Given the description of an element on the screen output the (x, y) to click on. 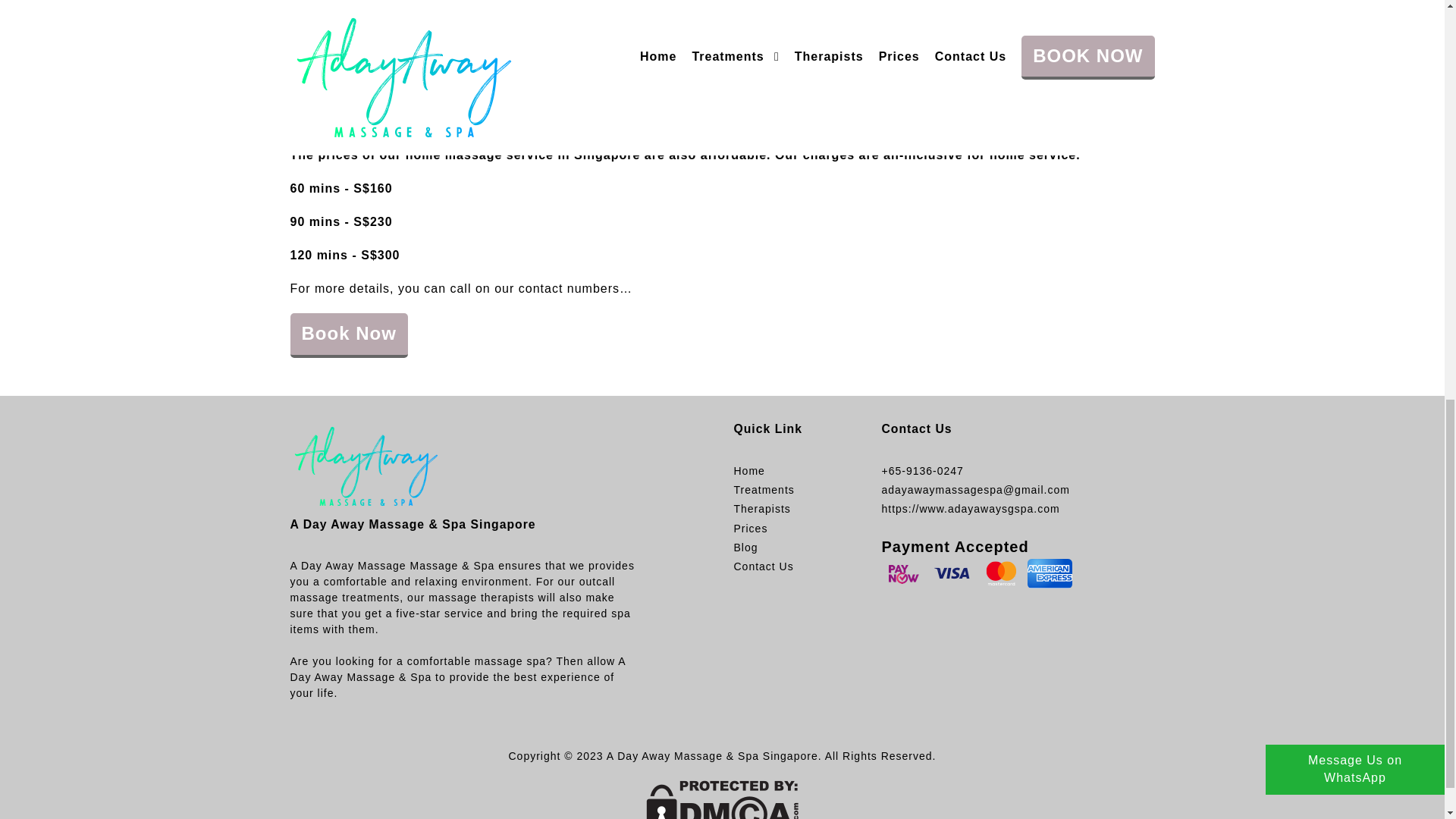
Prices (750, 528)
Treatments (763, 489)
Contact Us (763, 566)
Home (748, 470)
Therapists (761, 508)
DMCA.com Protection Status (721, 799)
Book Now (348, 334)
Blog (745, 547)
